Given the description of an element on the screen output the (x, y) to click on. 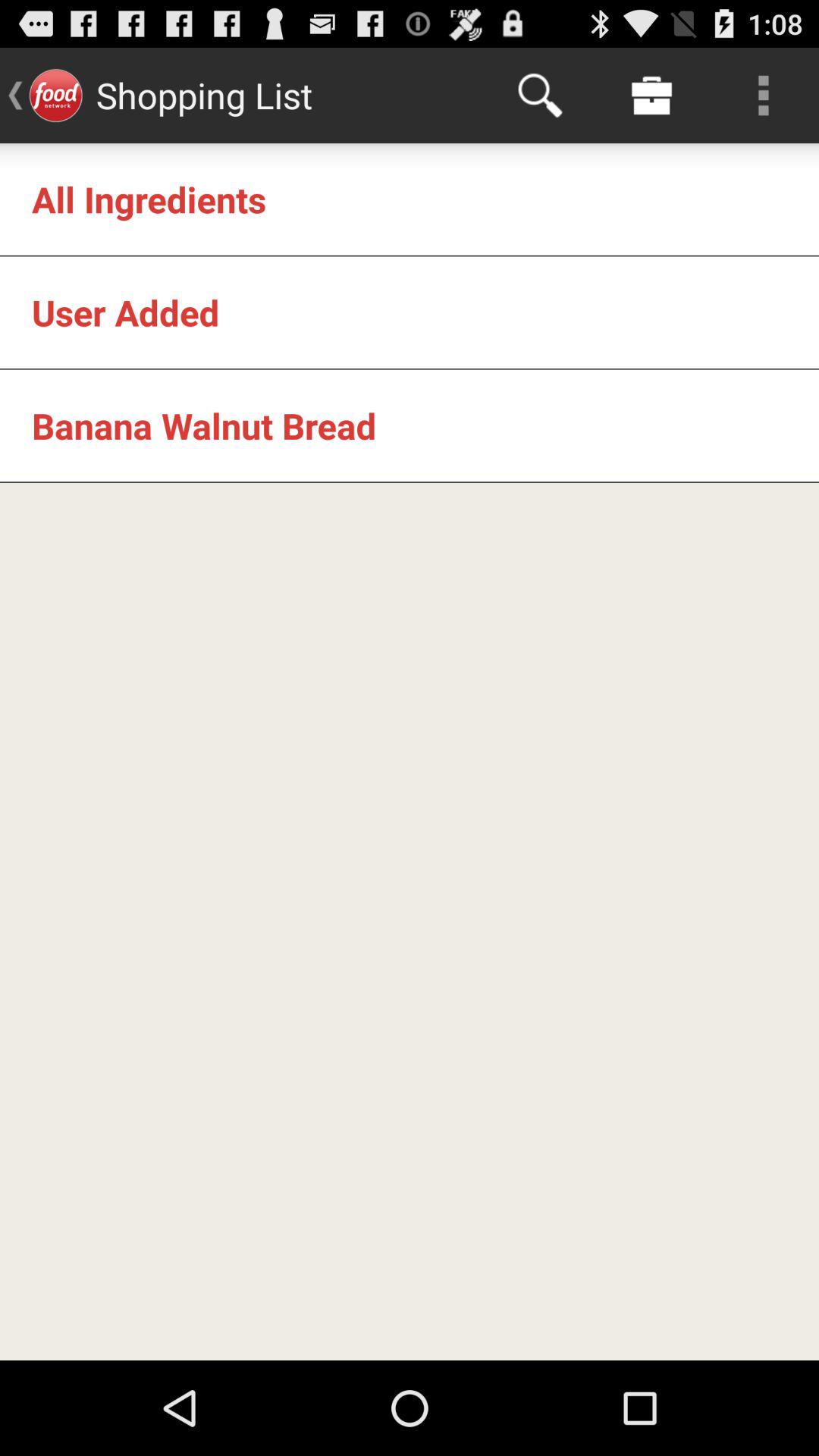
open the item to the right of the shopping list icon (540, 95)
